Given the description of an element on the screen output the (x, y) to click on. 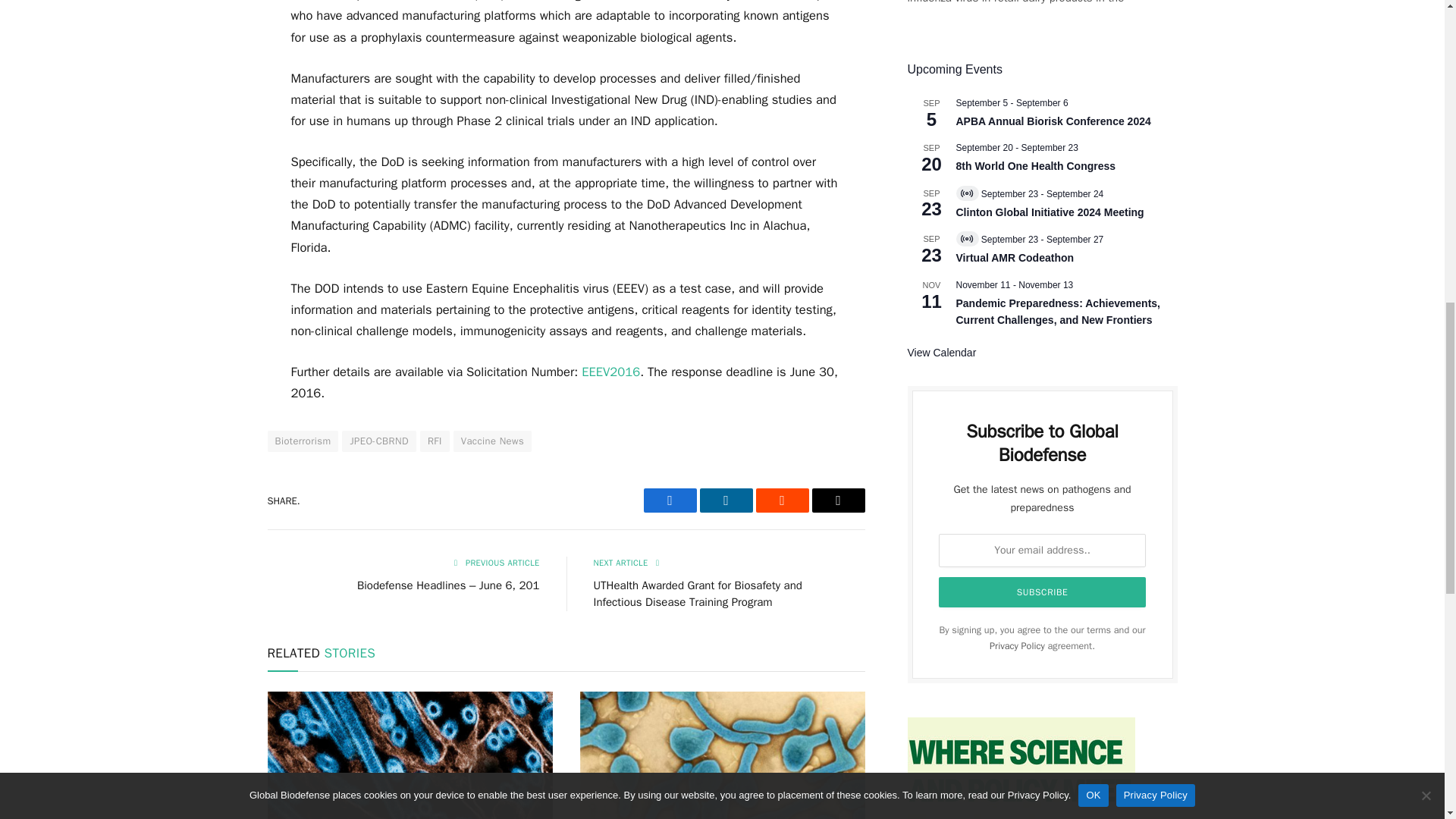
Vaccine News (491, 441)
Virtual Event (966, 238)
RFI (434, 441)
Virtual Event (966, 193)
Bioterrorism (301, 441)
Facebook (669, 500)
Subscribe (1043, 592)
Share on Facebook (669, 500)
Reddit (781, 500)
EEEV2016 (610, 371)
LinkedIn (725, 500)
Email (837, 500)
JPEO-CBRND (378, 441)
